Given the description of an element on the screen output the (x, y) to click on. 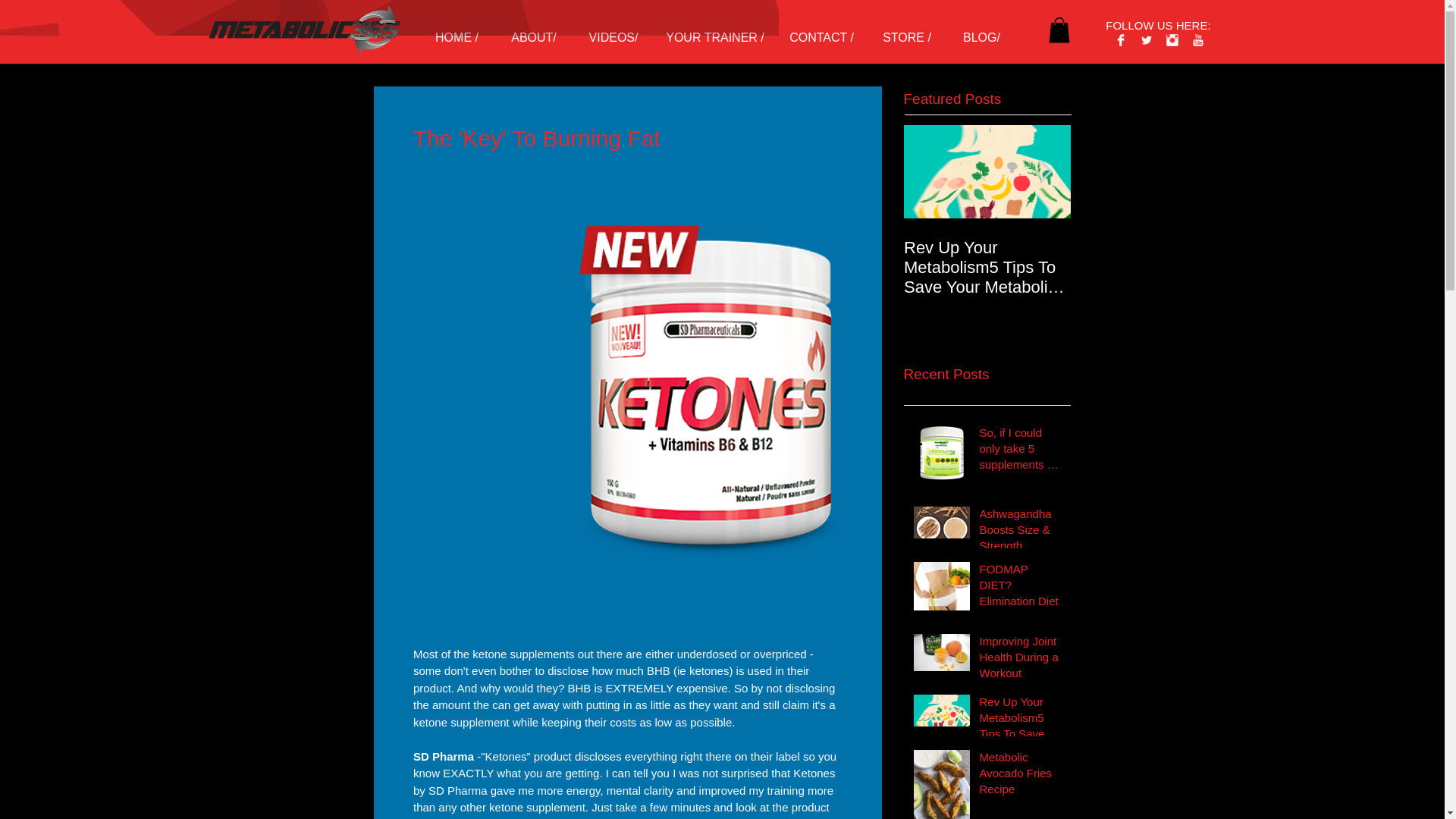
FODMAP DIET? Elimination Diet (1020, 588)
Improving Joint Health During a Workout (1020, 660)
Metabolic Avocado Fries Recipe (1020, 776)
